Given the description of an element on the screen output the (x, y) to click on. 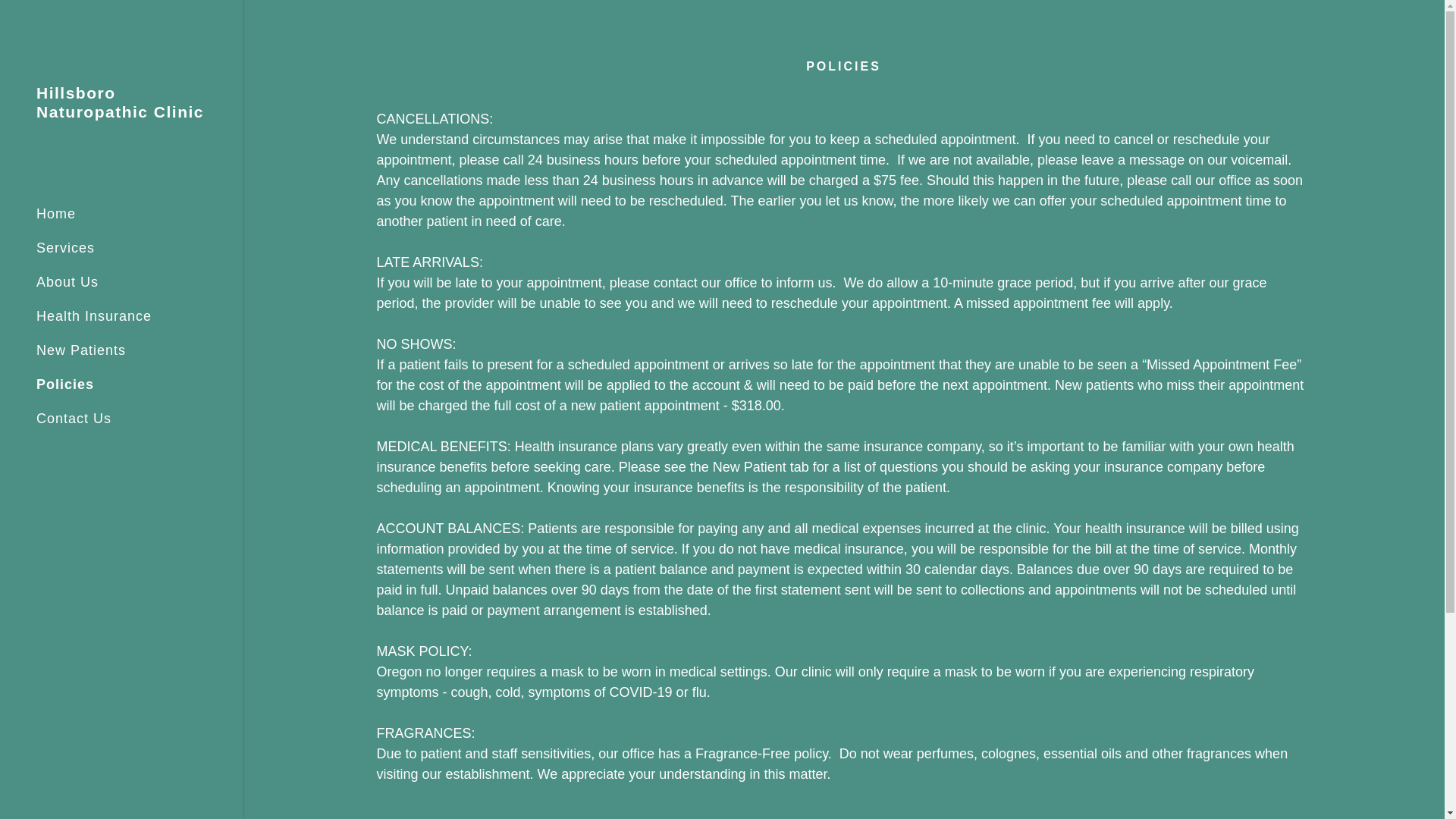
Hillsboro Naturopathic Clinic (121, 112)
Health Insurance (93, 315)
Hillsboro Naturopathic Clinic (121, 112)
New Patients (80, 350)
About Us (67, 281)
Policies (65, 384)
Home (55, 213)
Services (65, 247)
Contact Us (74, 418)
